Given the description of an element on the screen output the (x, y) to click on. 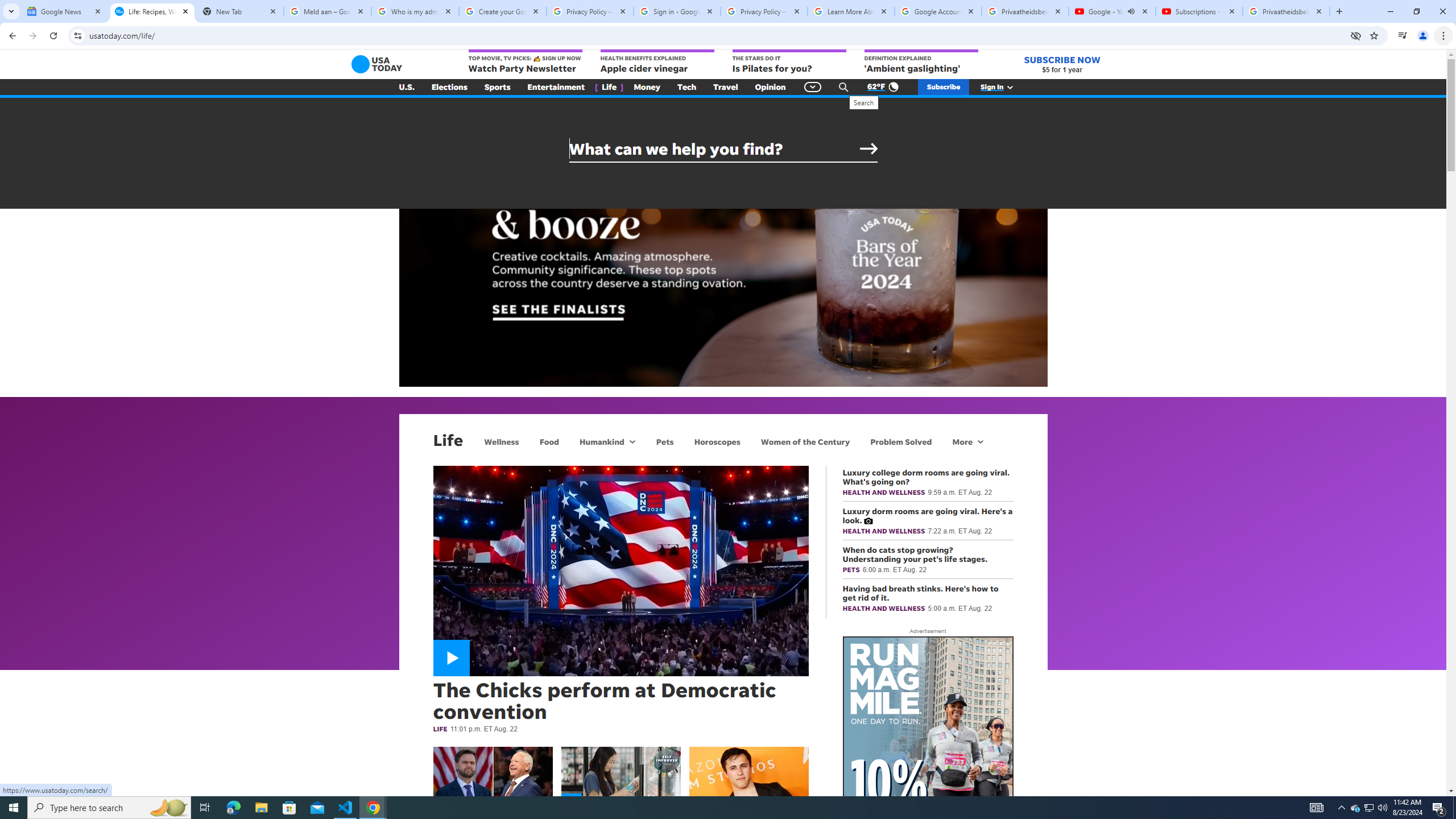
Food (549, 441)
Elections (449, 87)
Submit (868, 148)
[ Life ] (609, 87)
Subscribe (943, 87)
Google Account (938, 11)
U.S. (406, 87)
Travel (725, 87)
Wellness (501, 441)
